Given the description of an element on the screen output the (x, y) to click on. 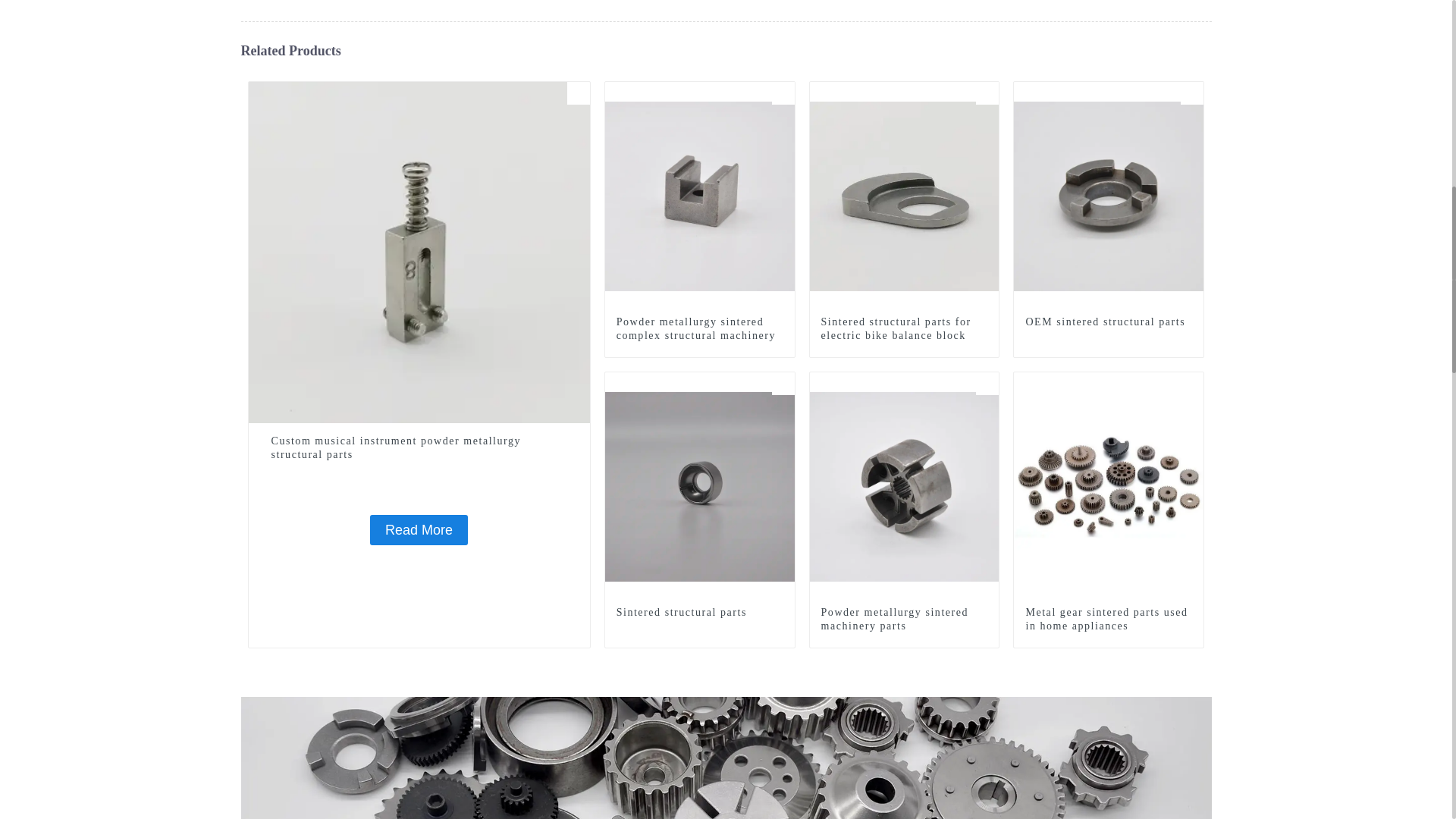
OEM sintered structural parts1 (1192, 92)
custom Musical instrument powder metallurgy structural parts (578, 92)
Custom musical instrument powder metallurgy structural parts (418, 251)
Sintered structural parts for electric bike balance block (904, 329)
Custom musical instrument powder metallurgy structural parts (418, 447)
Sintered structural parts for electric bike balance block (904, 329)
Read More (418, 530)
electric bike balanc block-1 (986, 92)
sintered structural parts3 (782, 383)
Custom musical instrument powder metallurgy structural parts (418, 447)
Sintered structural parts (699, 485)
